Given the description of an element on the screen output the (x, y) to click on. 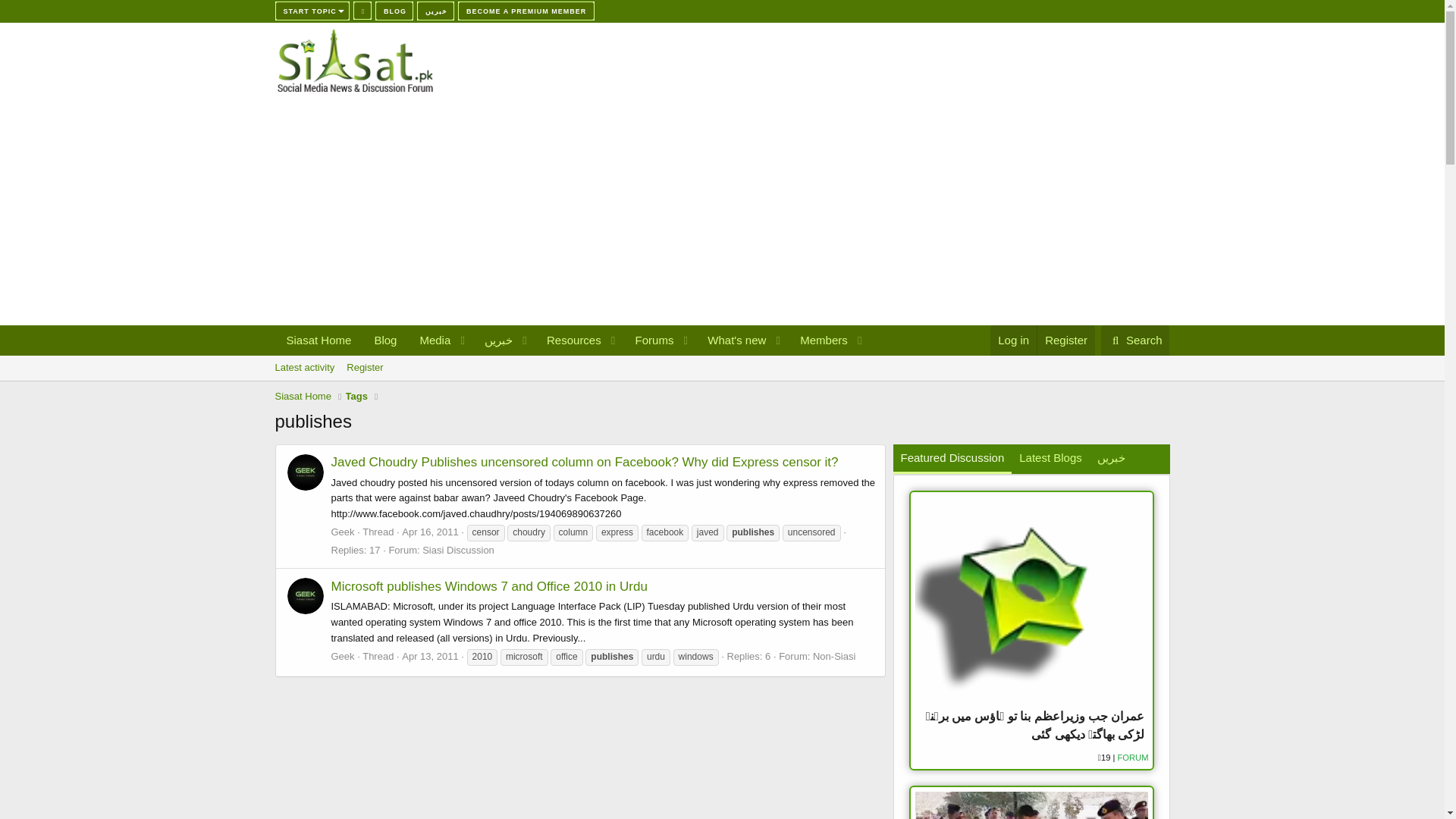
BLOG (394, 10)
Apr 16, 2011 at 1:17 AM (429, 531)
Apr 13, 2011 at 6:48 AM (720, 384)
START TOPIC (429, 655)
Advertisement (312, 10)
New payment methods available (1135, 340)
BECOME A PREMIUM MEMBER (526, 10)
